Given the description of an element on the screen output the (x, y) to click on. 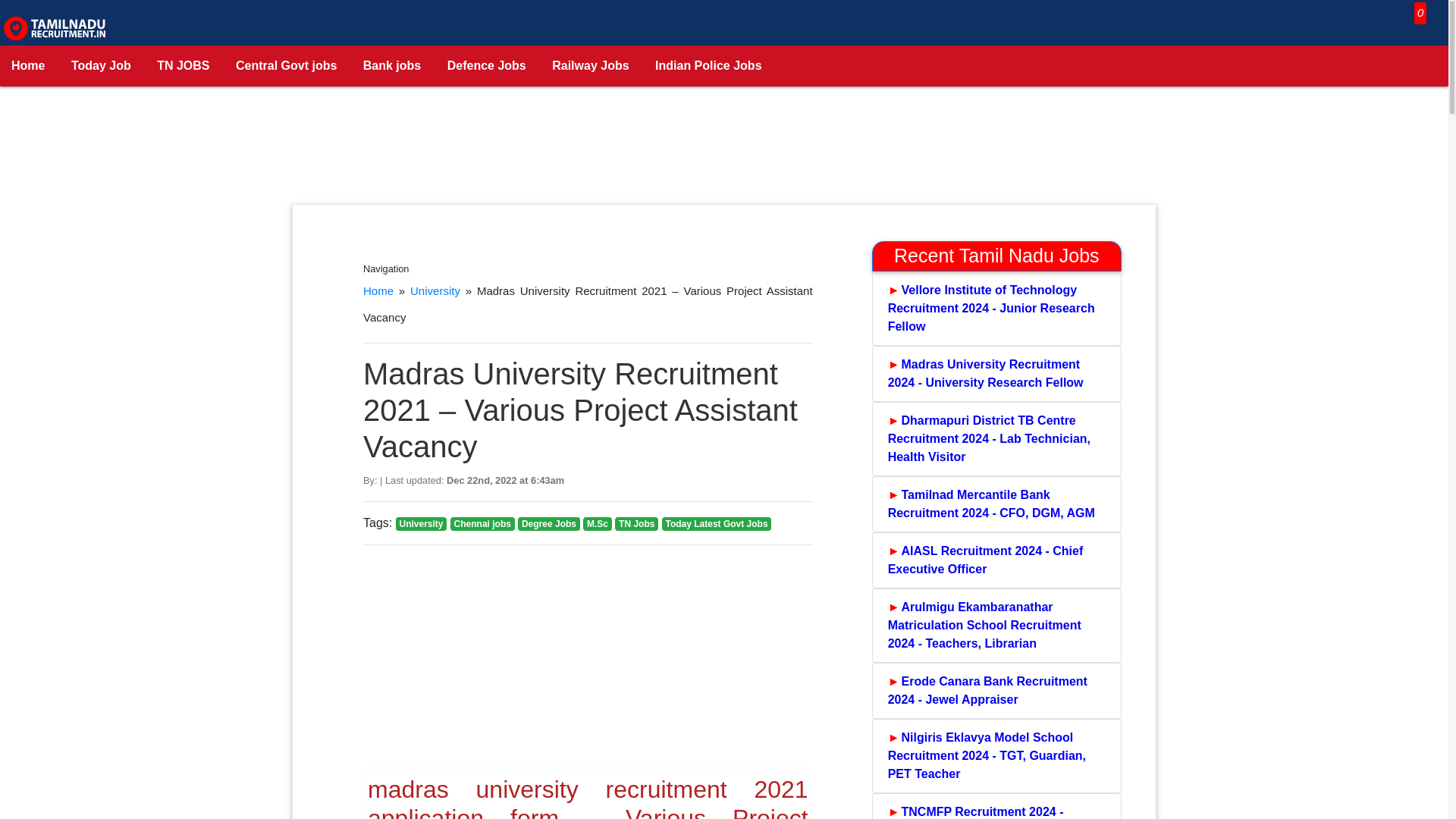
AIASL Recruitment 2024 - Chief Executive Officer (996, 560)
Today Job (100, 65)
Tamilnad Mercantile Bank Recruitment 2024 - CFO, DGM, AGM (996, 503)
Home (377, 290)
Defence Jobs (486, 65)
Advertisement (724, 156)
University (435, 290)
